Given the description of an element on the screen output the (x, y) to click on. 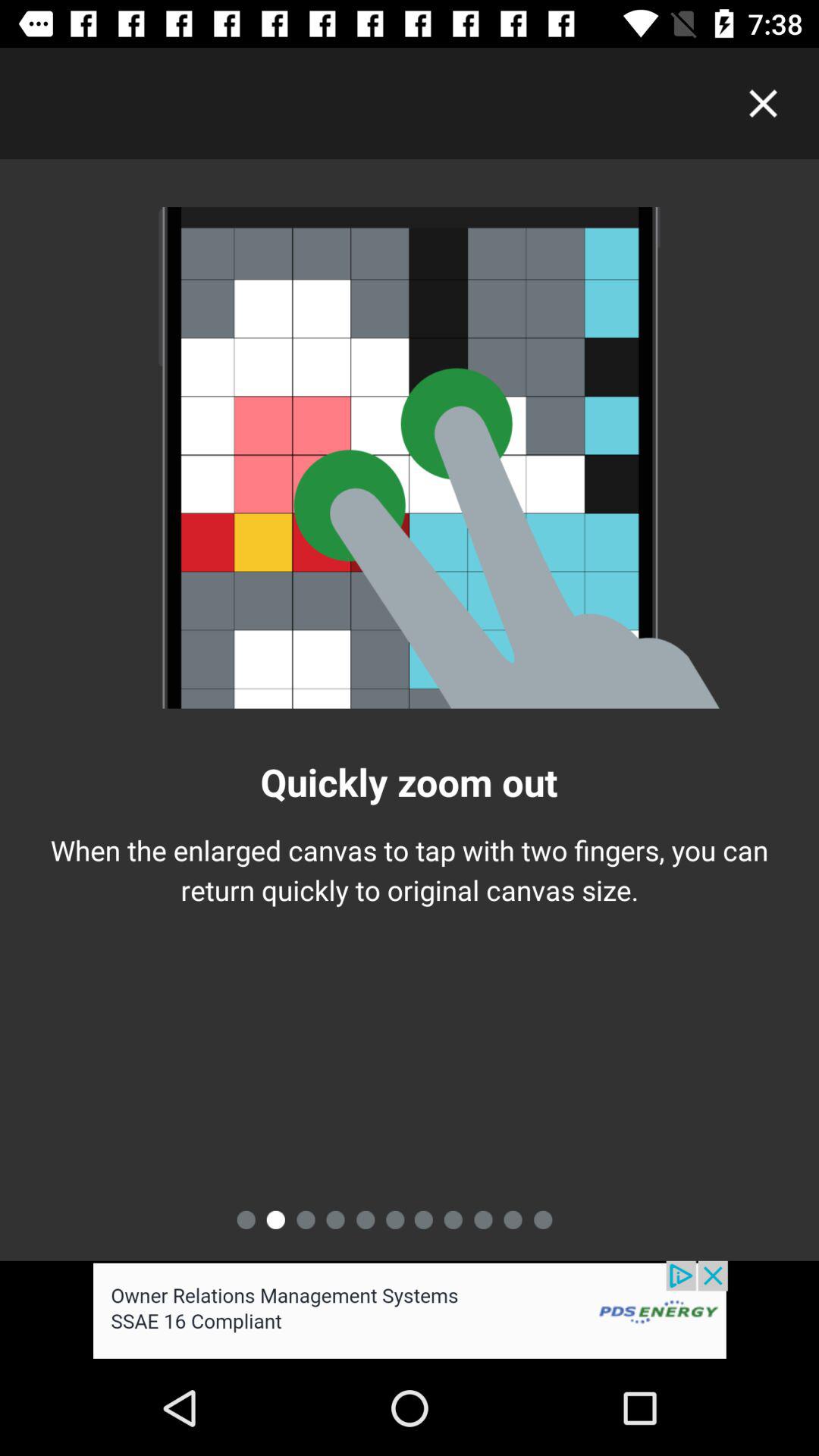
cancel (763, 103)
